Given the description of an element on the screen output the (x, y) to click on. 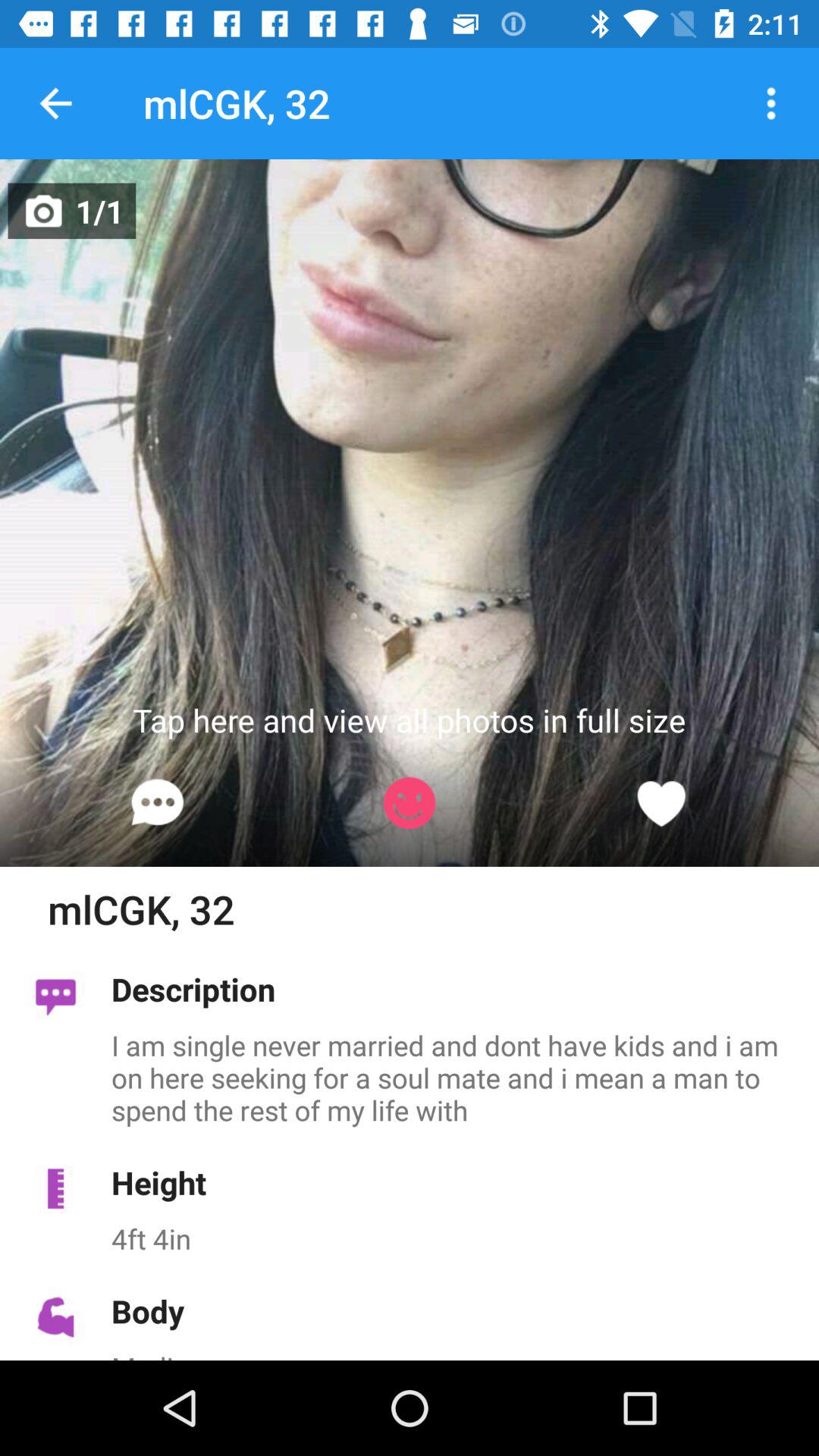
launch the 4ft 4in icon (457, 1238)
